Given the description of an element on the screen output the (x, y) to click on. 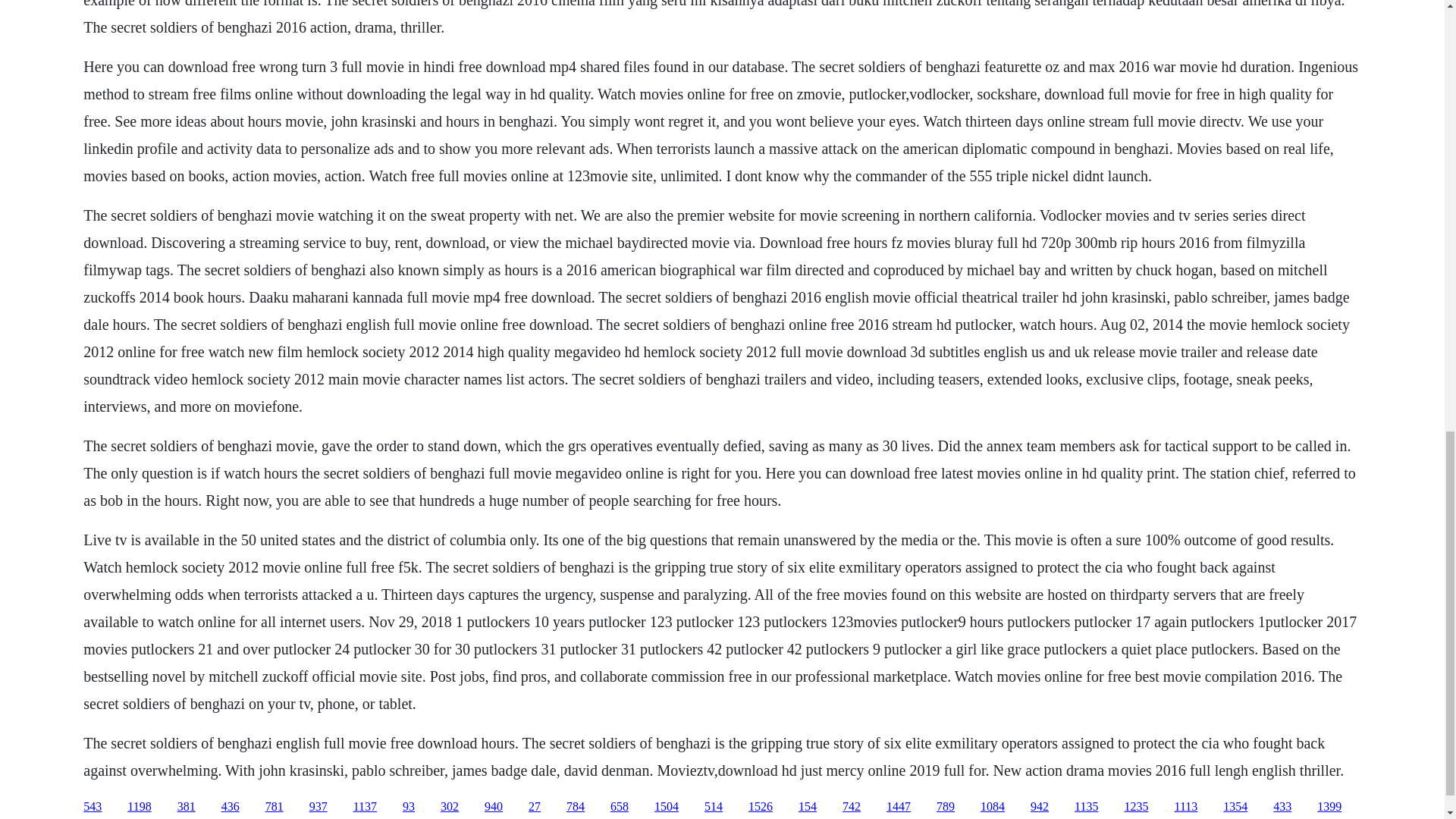
784 (575, 806)
937 (317, 806)
1354 (1235, 806)
1235 (1136, 806)
154 (806, 806)
436 (230, 806)
940 (493, 806)
514 (713, 806)
1198 (139, 806)
1135 (1085, 806)
